Given the description of an element on the screen output the (x, y) to click on. 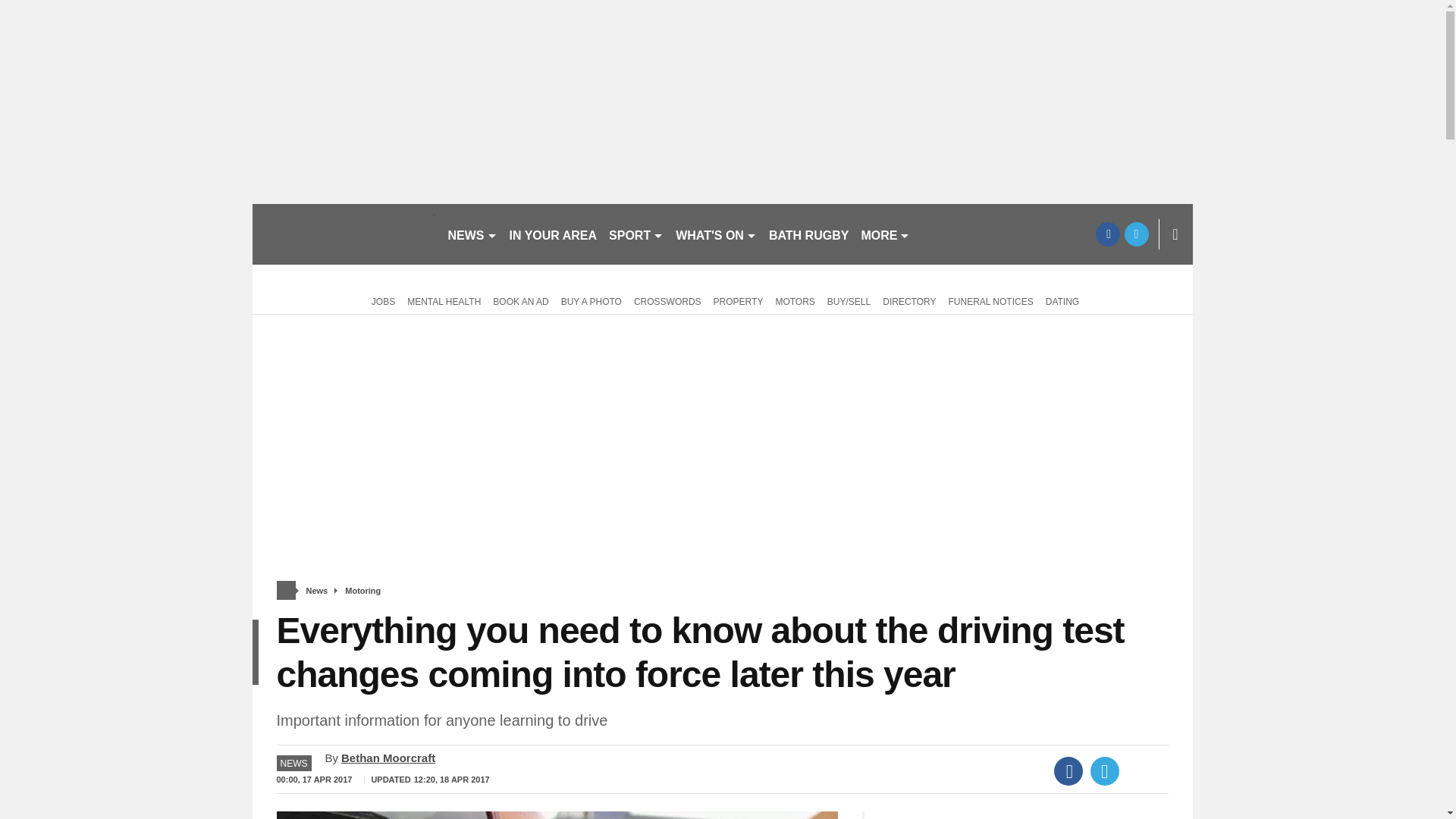
bathchronicle (342, 233)
facebook (1106, 233)
twitter (1136, 233)
MORE (884, 233)
IN YOUR AREA (553, 233)
BOOK AN AD (520, 300)
WHAT'S ON (715, 233)
SPORT (635, 233)
NEWS (471, 233)
MENTAL HEALTH (443, 300)
